Given the description of an element on the screen output the (x, y) to click on. 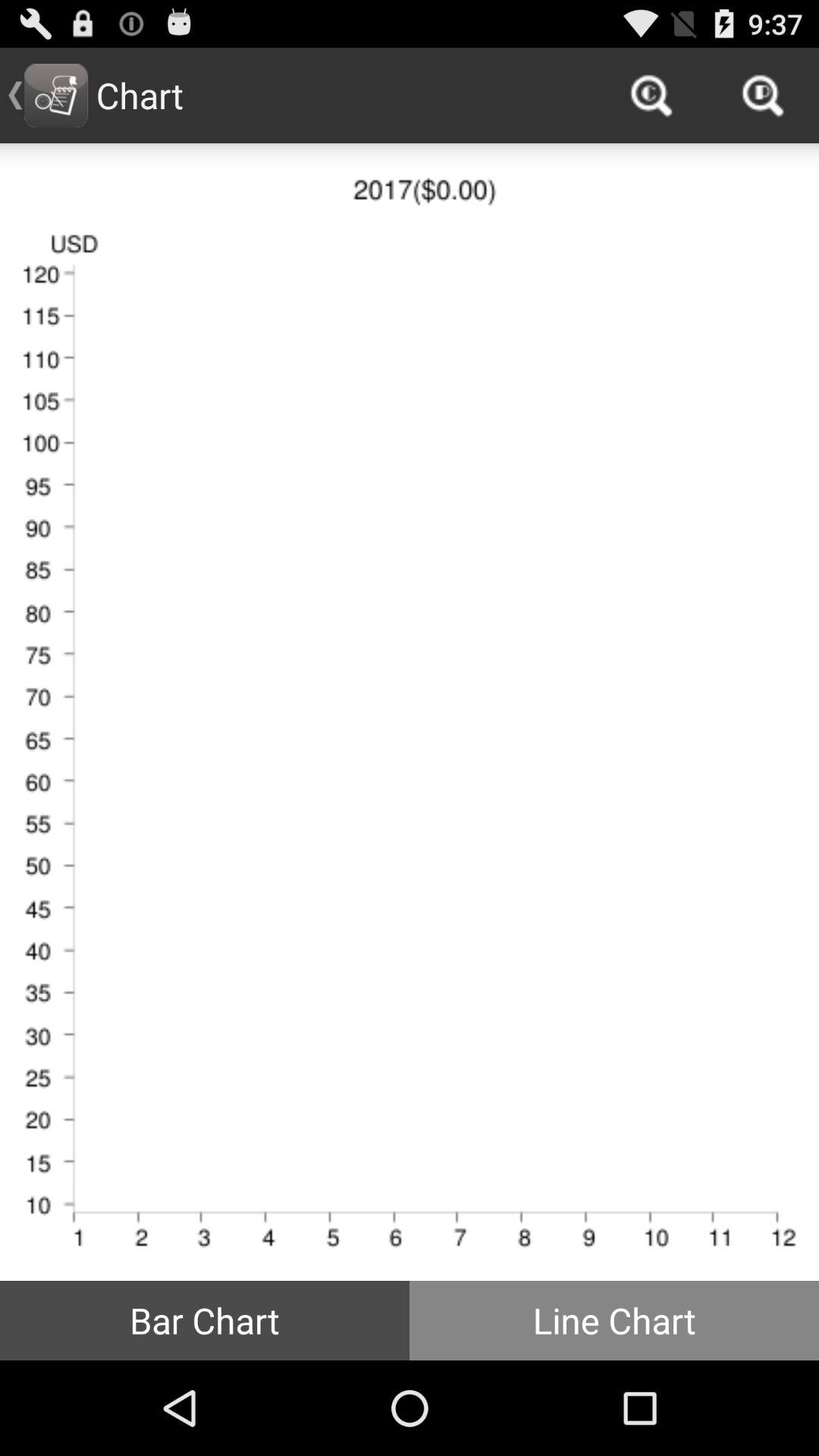
click the icon at the bottom left corner (204, 1320)
